Given the description of an element on the screen output the (x, y) to click on. 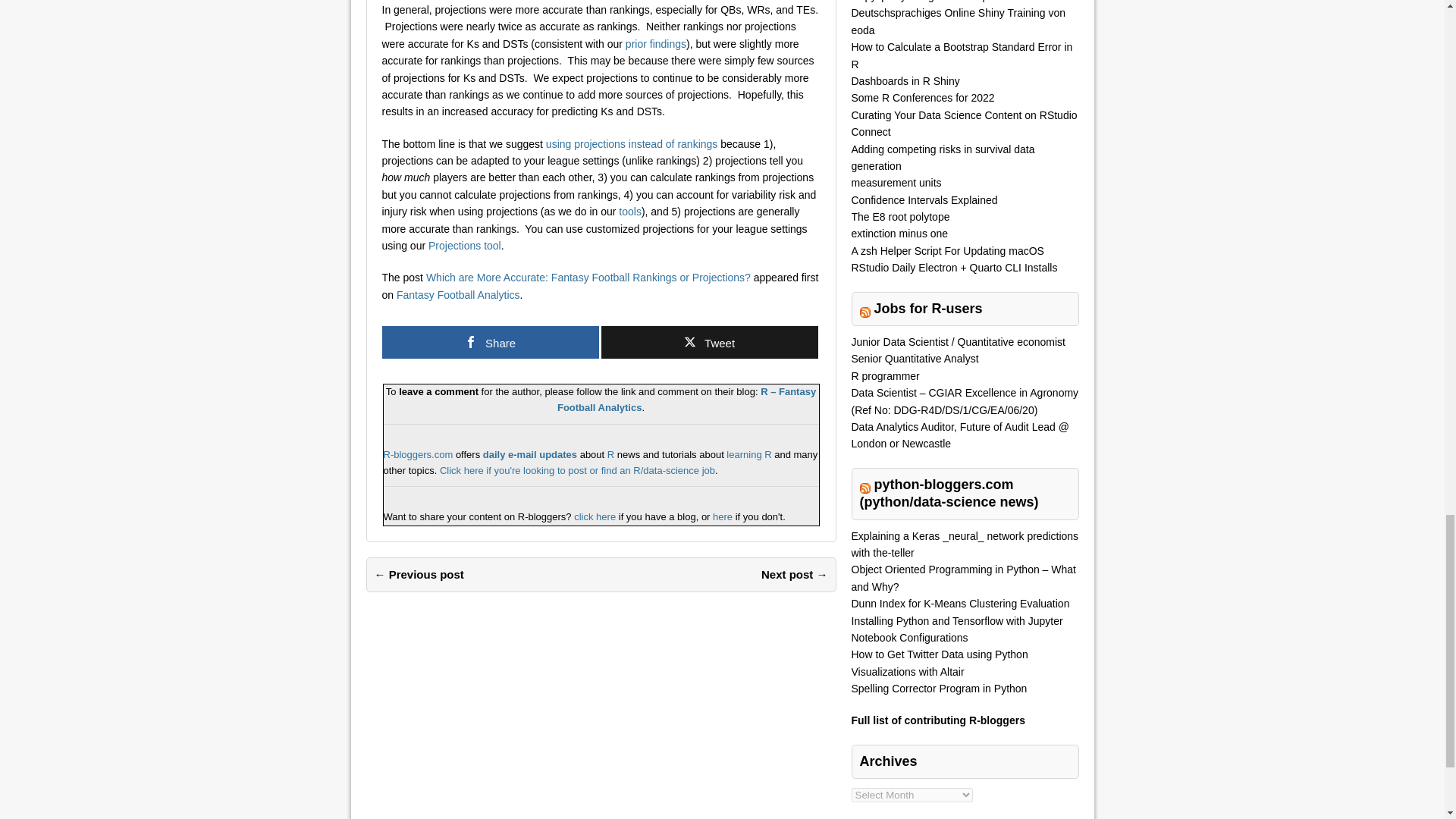
Projections tool (464, 245)
using projections instead of rankings (631, 143)
prior findings (655, 43)
tools (630, 211)
R tutorials (748, 454)
Data science jobs (576, 470)
